Given the description of an element on the screen output the (x, y) to click on. 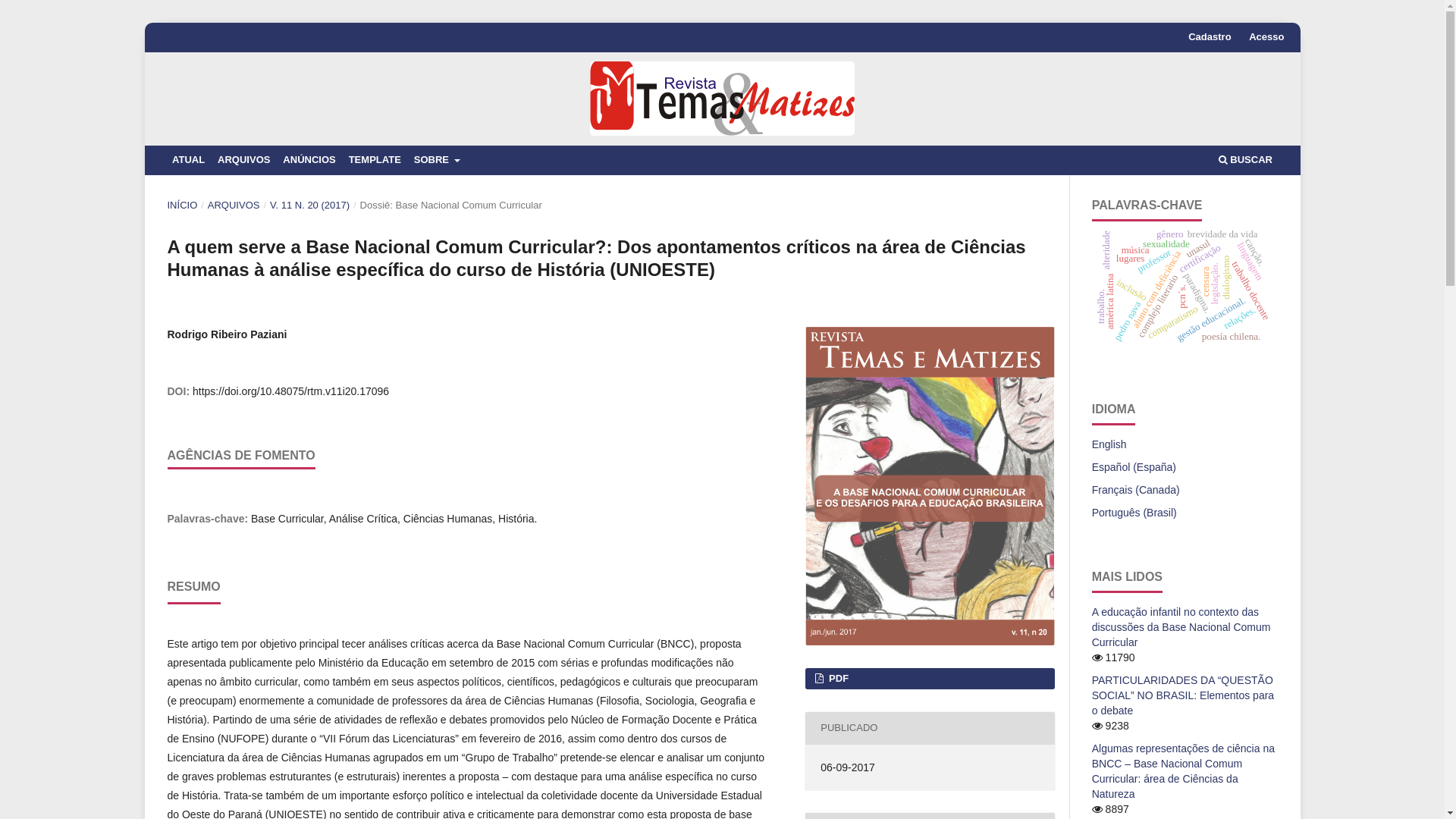
Acesso Element type: text (1266, 37)
https://doi.org/10.48075/rtm.v11i20.17096 Element type: text (290, 391)
V. 11 N. 20 (2017) Element type: text (309, 205)
TEMPLATE Element type: text (374, 160)
SOBRE Element type: text (436, 160)
ARQUIVOS Element type: text (244, 160)
ARQUIVOS Element type: text (233, 205)
PDF Element type: text (929, 678)
English Element type: text (1109, 444)
Cadastro Element type: text (1209, 37)
ATUAL Element type: text (187, 160)
BUSCAR Element type: text (1245, 160)
